Given the description of an element on the screen output the (x, y) to click on. 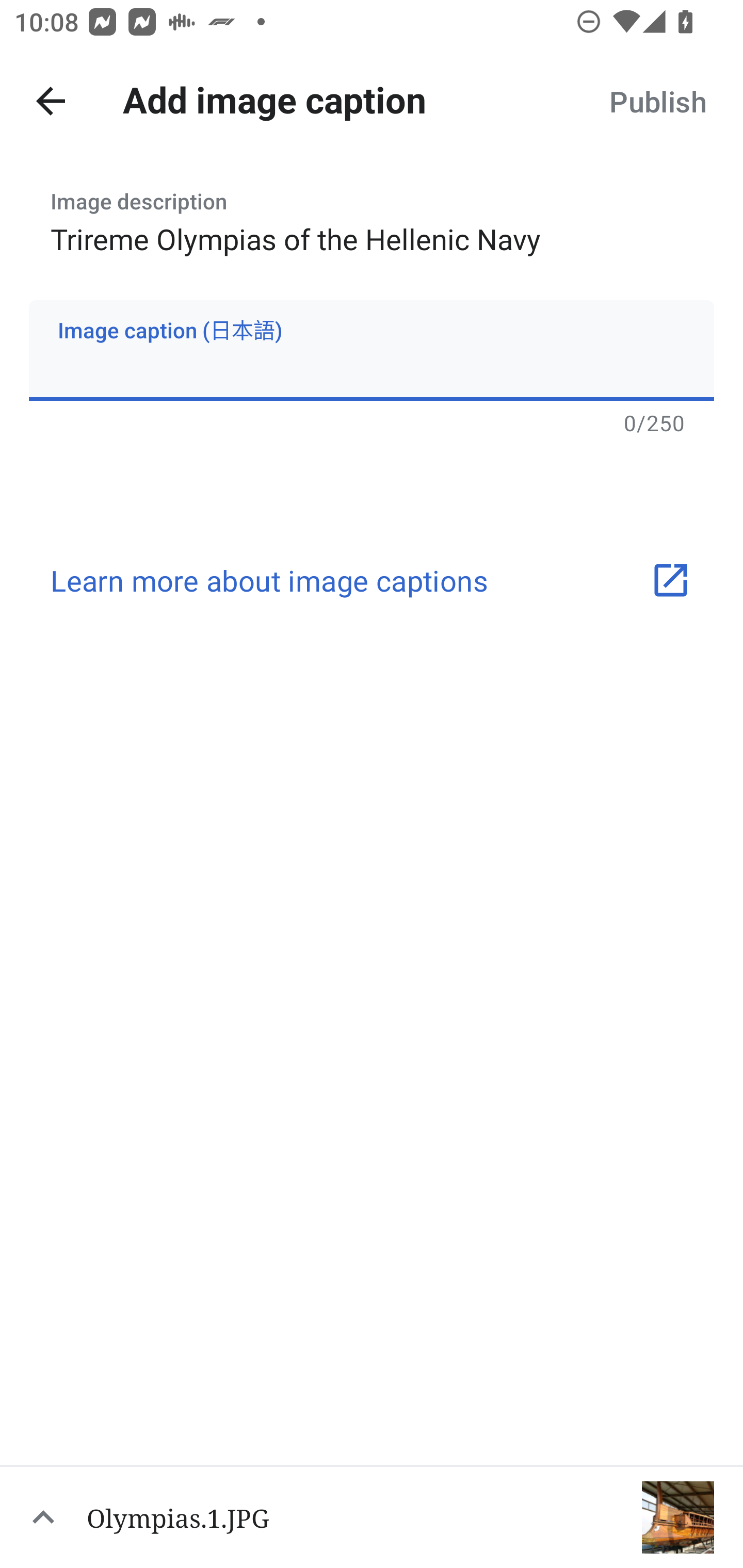
Cancel (50, 101)
Publish (657, 101)
Image caption (日本語) (371, 350)
Learn more about image captions (371, 580)
Olympias.1.JPG (371, 1516)
